Given the description of an element on the screen output the (x, y) to click on. 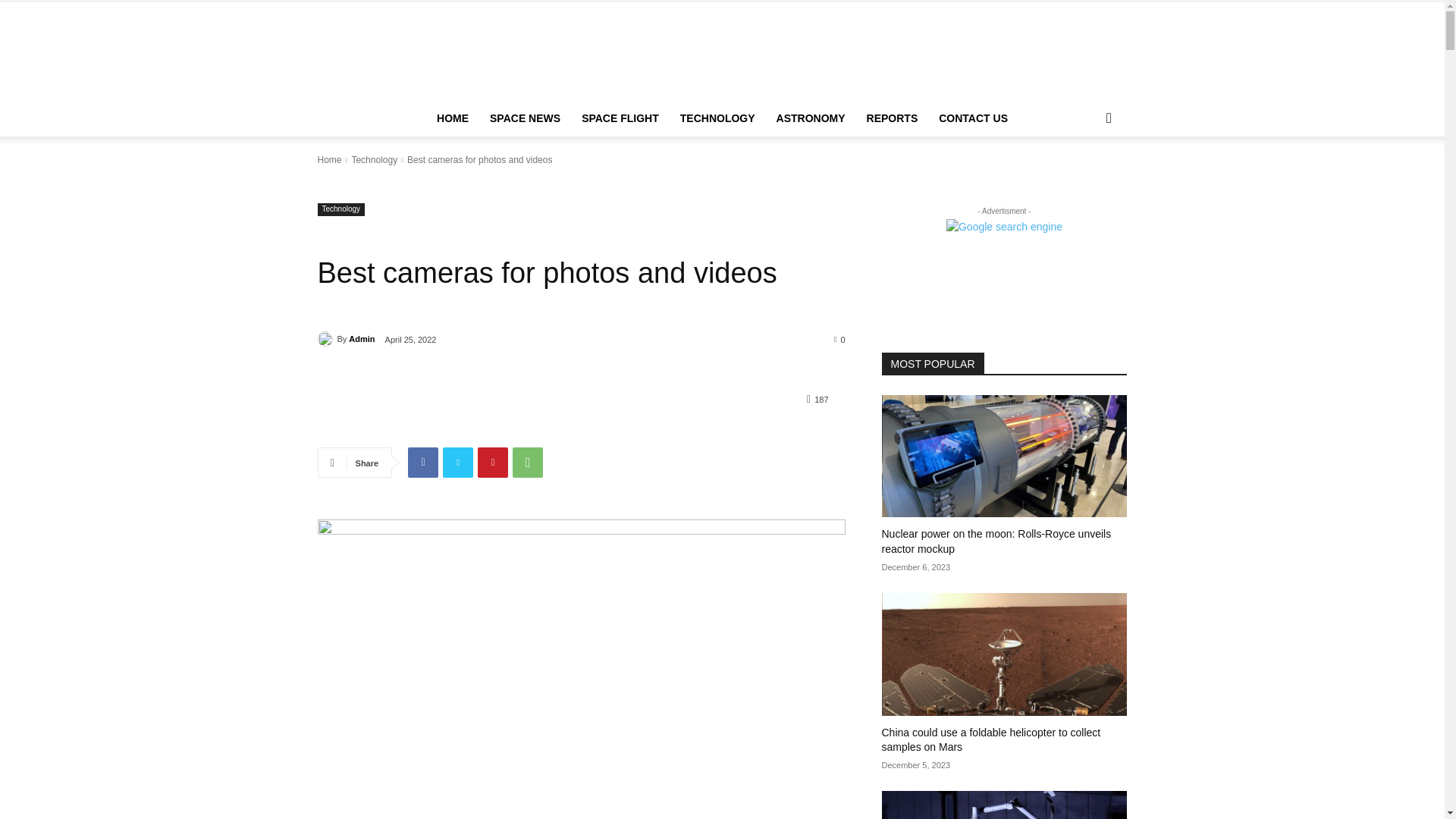
Admin (326, 338)
ASTRONOMY (810, 117)
REPORTS (892, 117)
0 (839, 338)
HOME (452, 117)
Admin (361, 338)
CONTACT US (972, 117)
Twitter (457, 462)
Facebook (422, 462)
Search (1085, 178)
Technology (373, 159)
View all posts in Technology (373, 159)
WhatsApp (527, 462)
SPACE NEWS (524, 117)
